Given the description of an element on the screen output the (x, y) to click on. 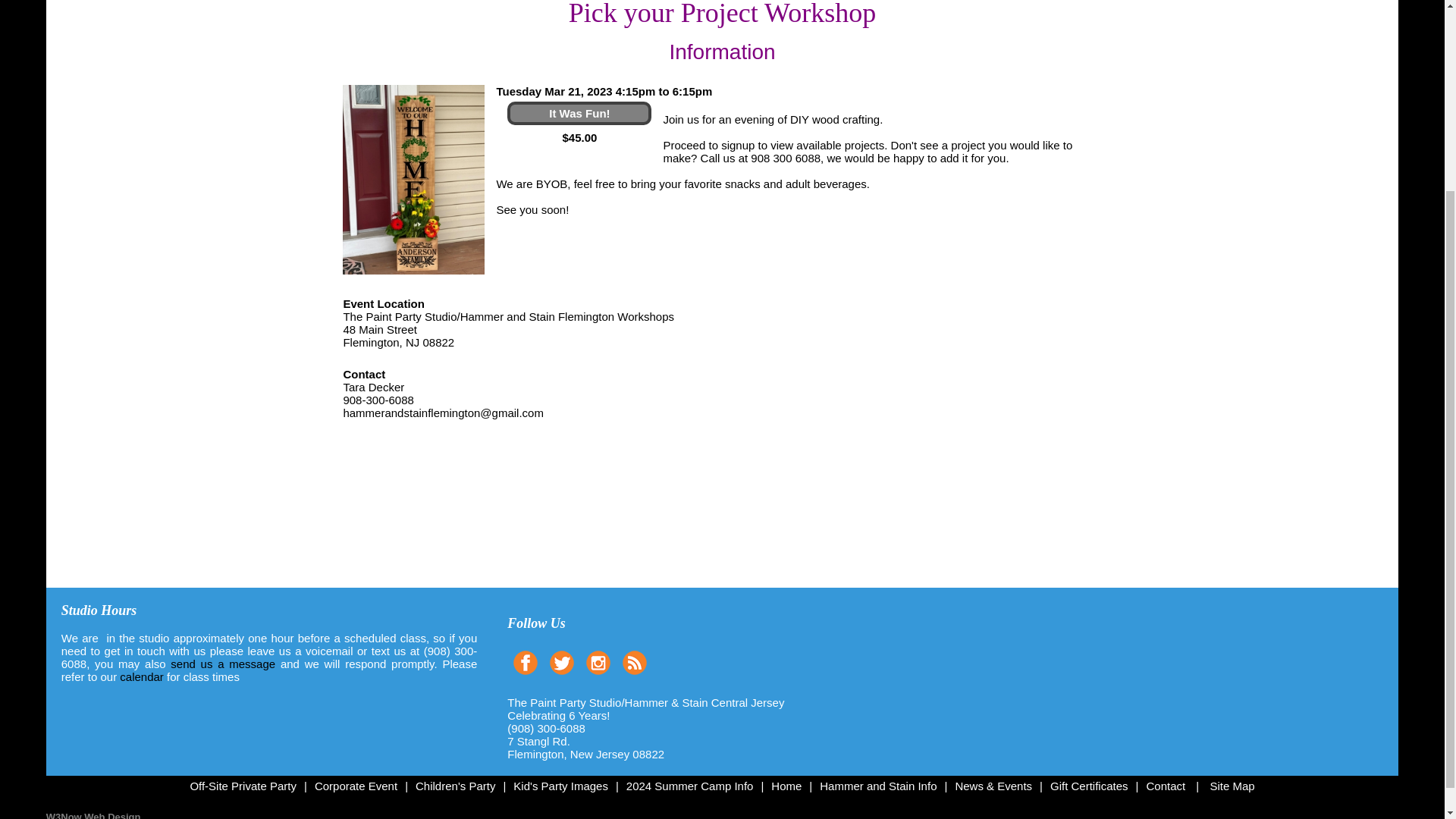
Off-Site Private Party (243, 785)
send us a message (222, 663)
calendar (141, 676)
Corporate Event (355, 785)
